Given the description of an element on the screen output the (x, y) to click on. 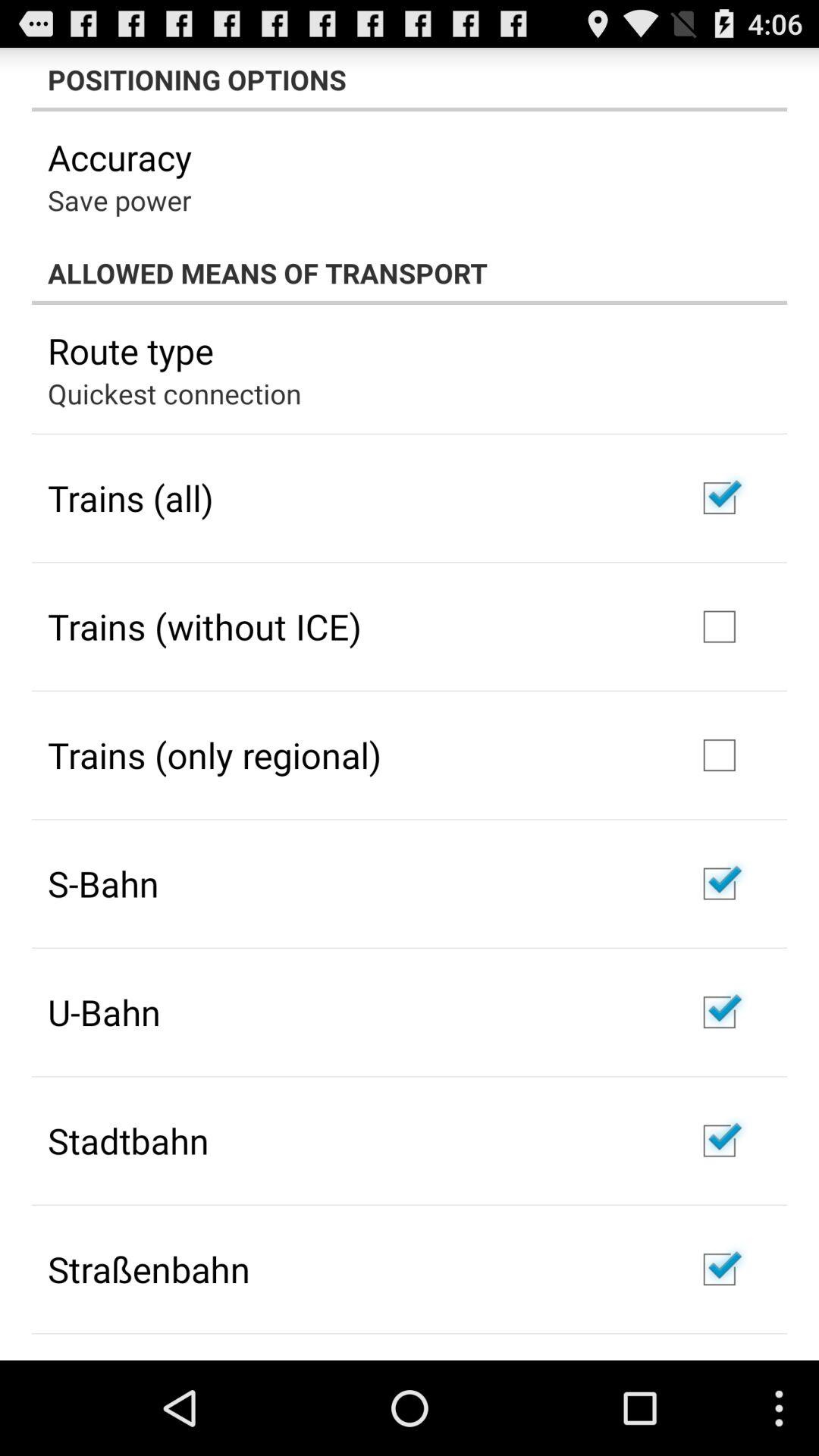
choose item above quickest connection (130, 350)
